Given the description of an element on the screen output the (x, y) to click on. 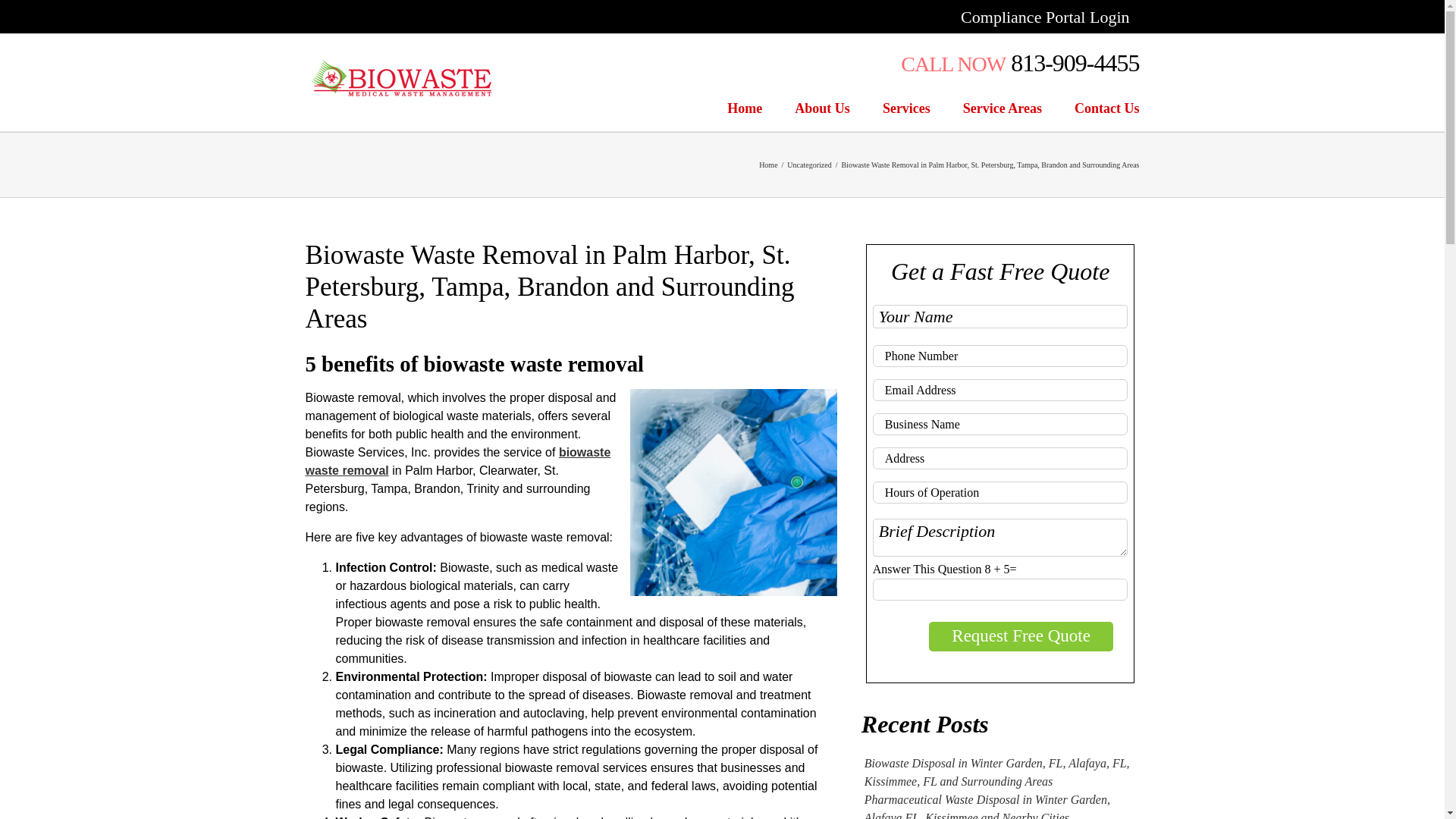
Home (743, 108)
Home (767, 164)
Request Free Quote (1020, 636)
Service Areas (1002, 108)
About Us (822, 108)
Compliance Portal Login (1044, 16)
Uncategorized (809, 164)
CALL NOW 813-909-4455 (1019, 63)
Services (906, 108)
biowaste waste removal (457, 460)
Request Free Quote (1020, 636)
Contact Us (1107, 108)
